Given the description of an element on the screen output the (x, y) to click on. 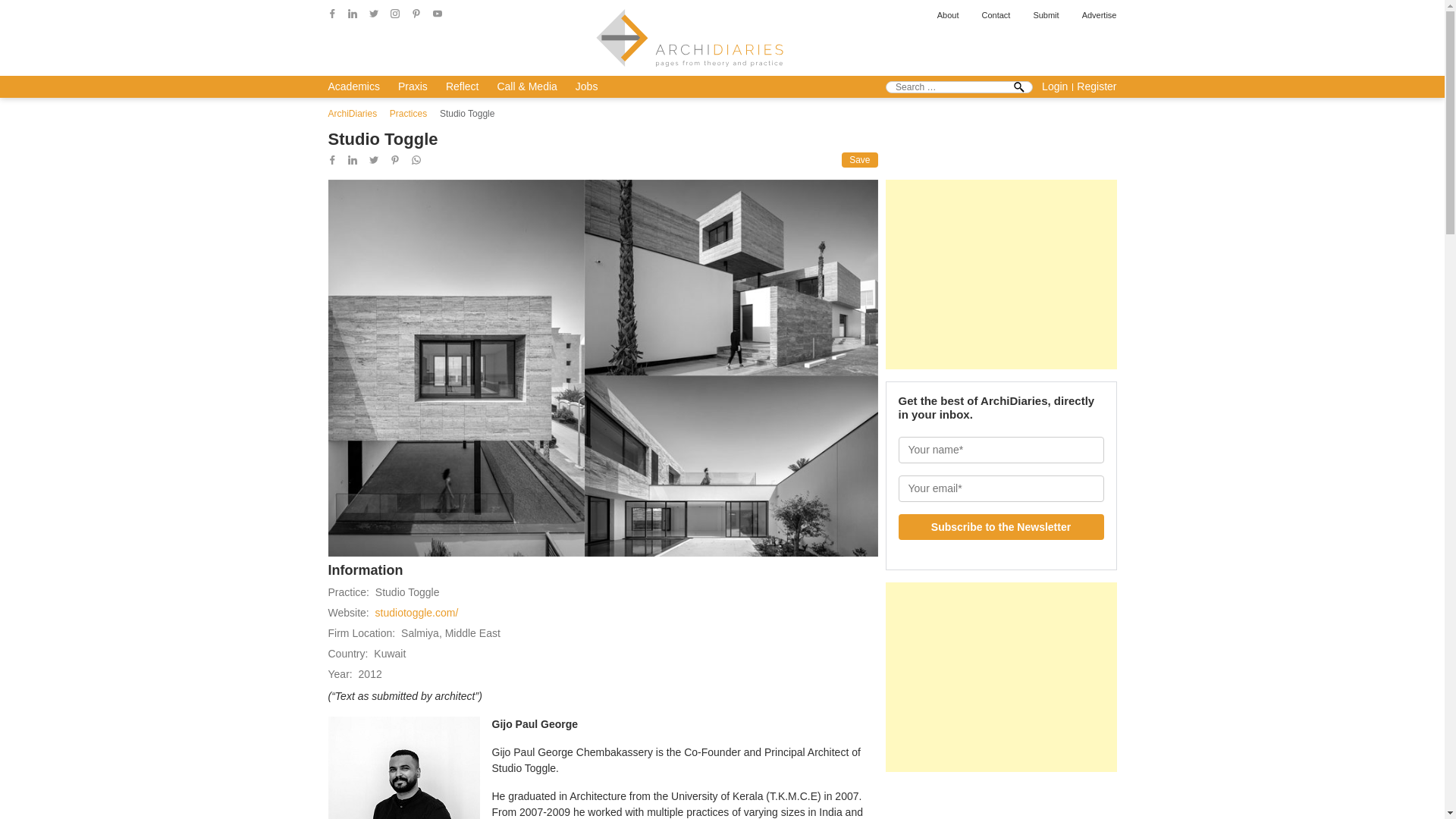
Academics (352, 86)
Twitter (373, 13)
Facebook (331, 159)
YouTube (437, 13)
Submit (1045, 15)
Praxis (412, 86)
Reflect (462, 86)
Subscribe to the Newsletter (1000, 526)
Search (1018, 86)
Search (1018, 86)
Linkedin (351, 159)
WhatsApp (416, 159)
About (948, 15)
Advertise (1098, 15)
Search (1018, 86)
